Given the description of an element on the screen output the (x, y) to click on. 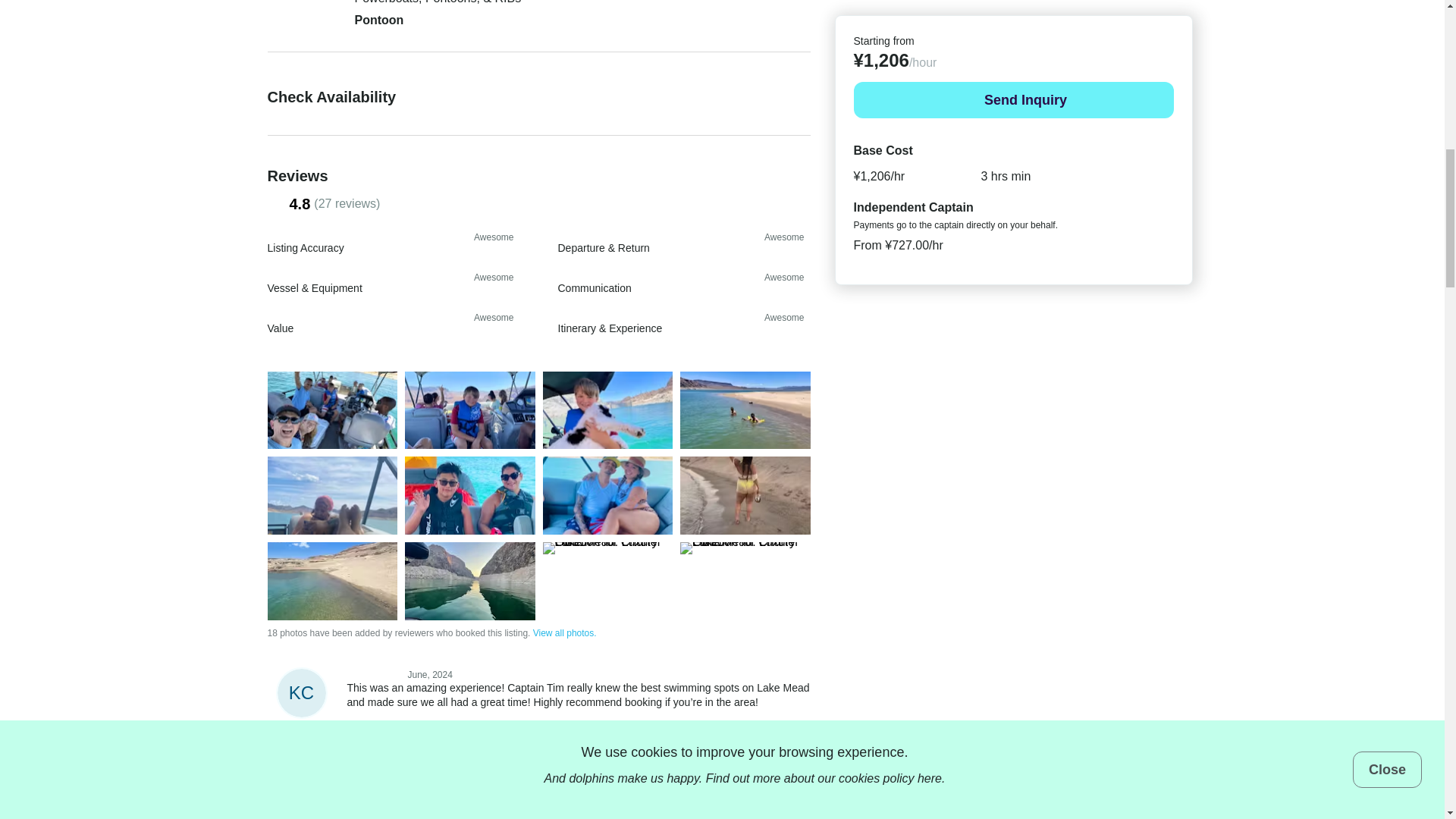
View all photos. (564, 633)
